Given the description of an element on the screen output the (x, y) to click on. 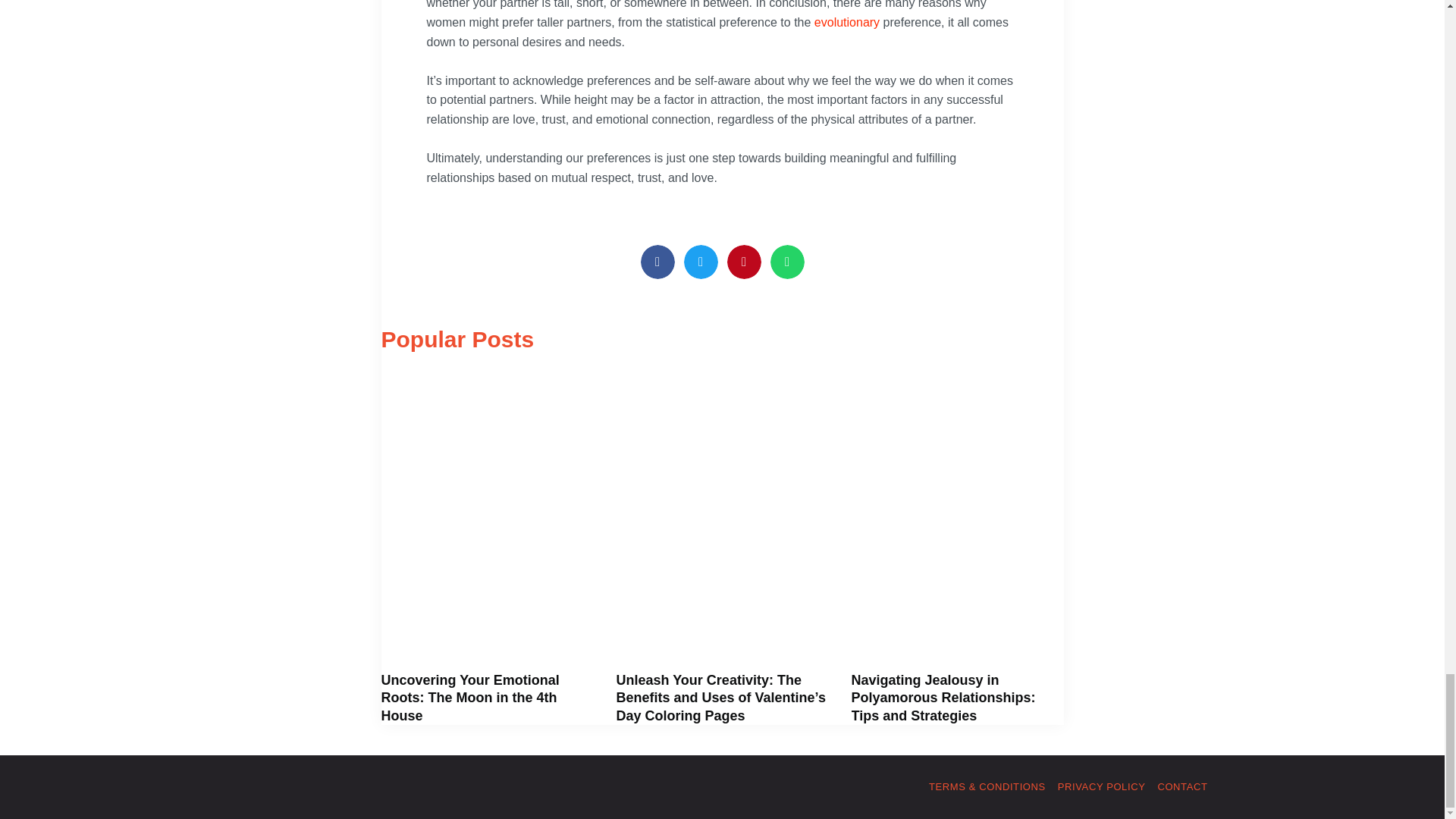
PRIVACY POLICY (1101, 786)
Uncovering Your Emotional Roots: The Moon in the 4th House (469, 697)
CONTACT (1182, 786)
evolutionary (846, 21)
